Given the description of an element on the screen output the (x, y) to click on. 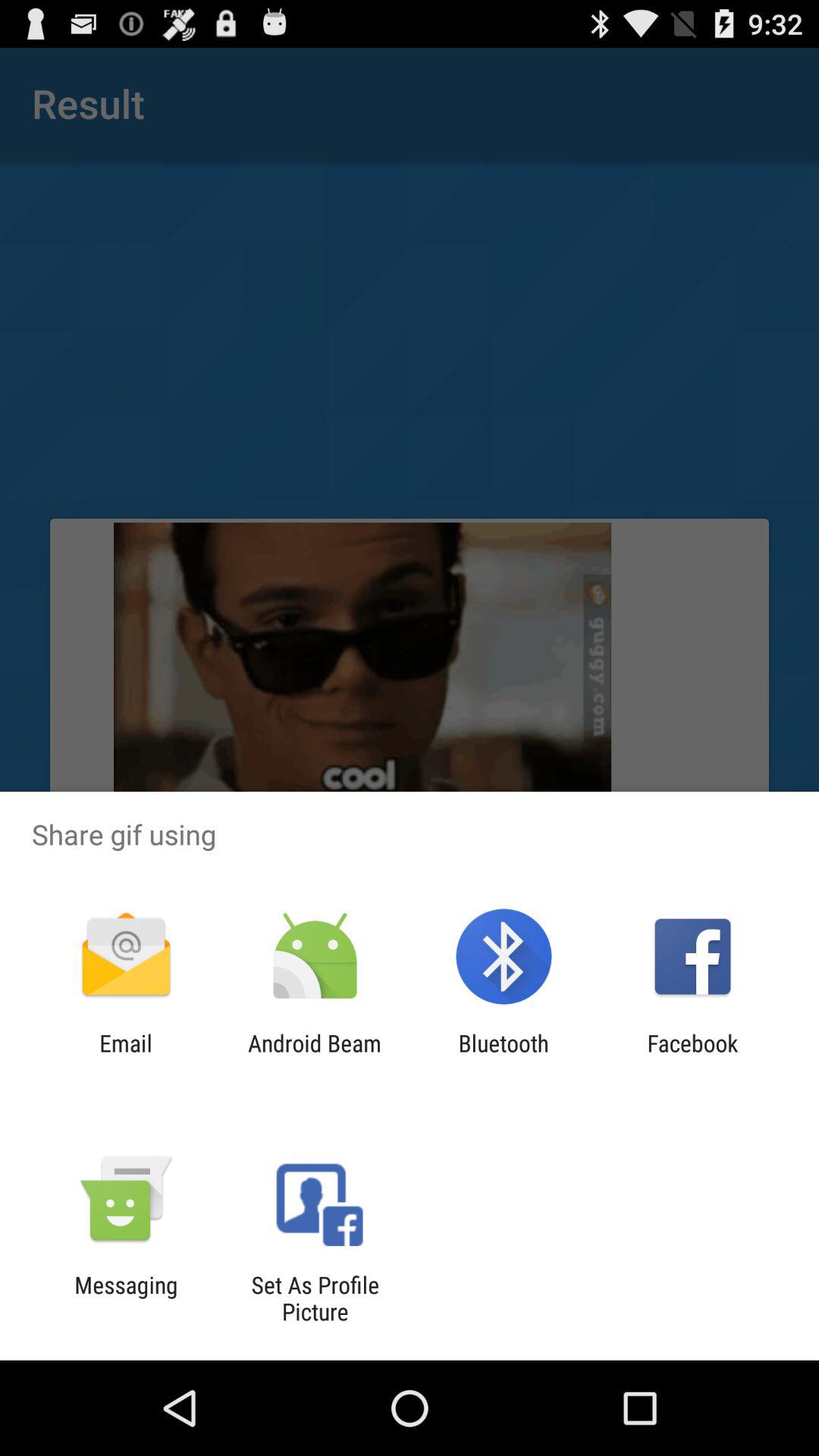
press item next to the bluetooth app (314, 1056)
